Given the description of an element on the screen output the (x, y) to click on. 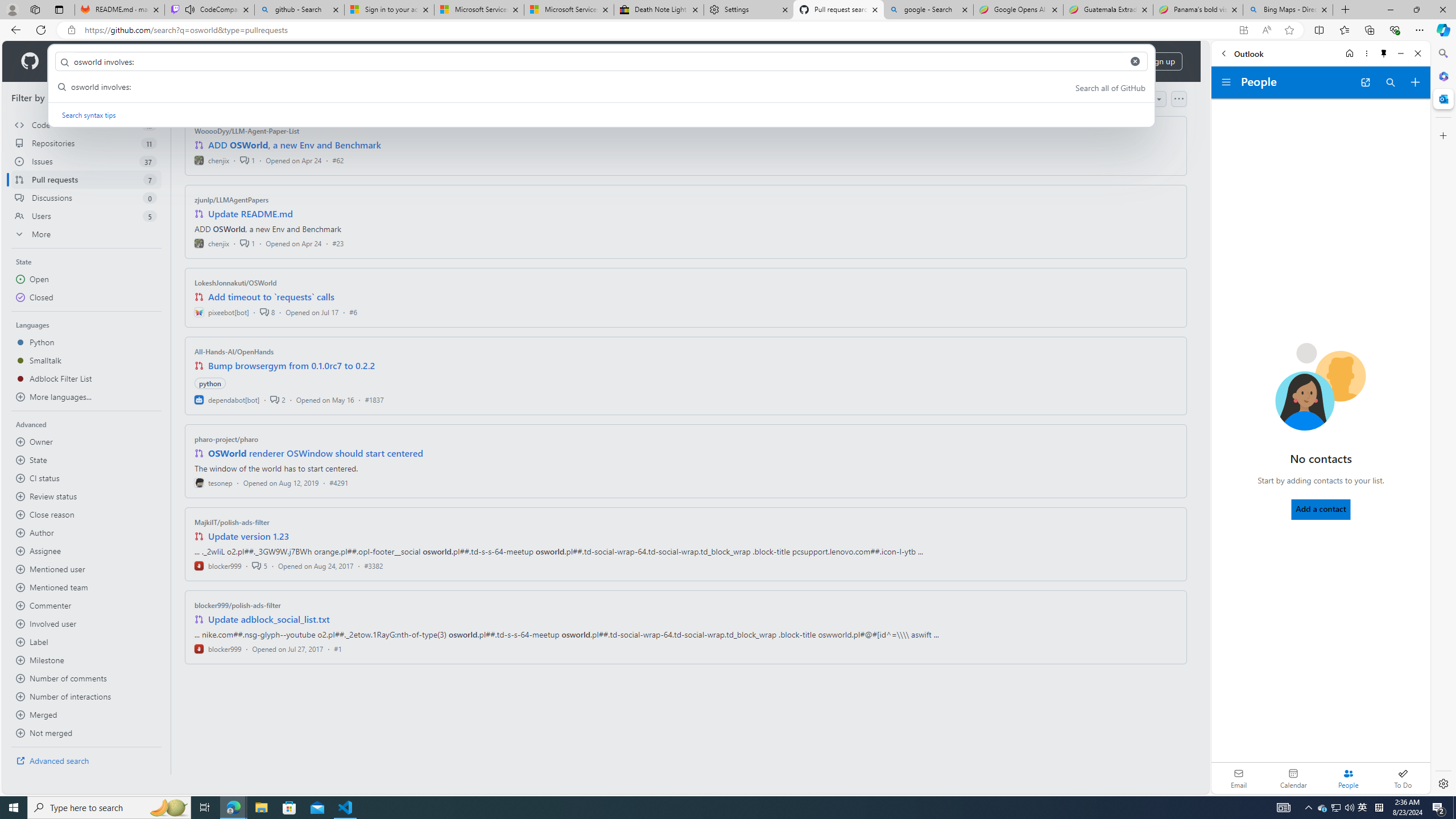
Sign in to your account (389, 9)
Add timeout to `requests` calls (271, 296)
Draggable pane splitter (169, 427)
